Given the description of an element on the screen output the (x, y) to click on. 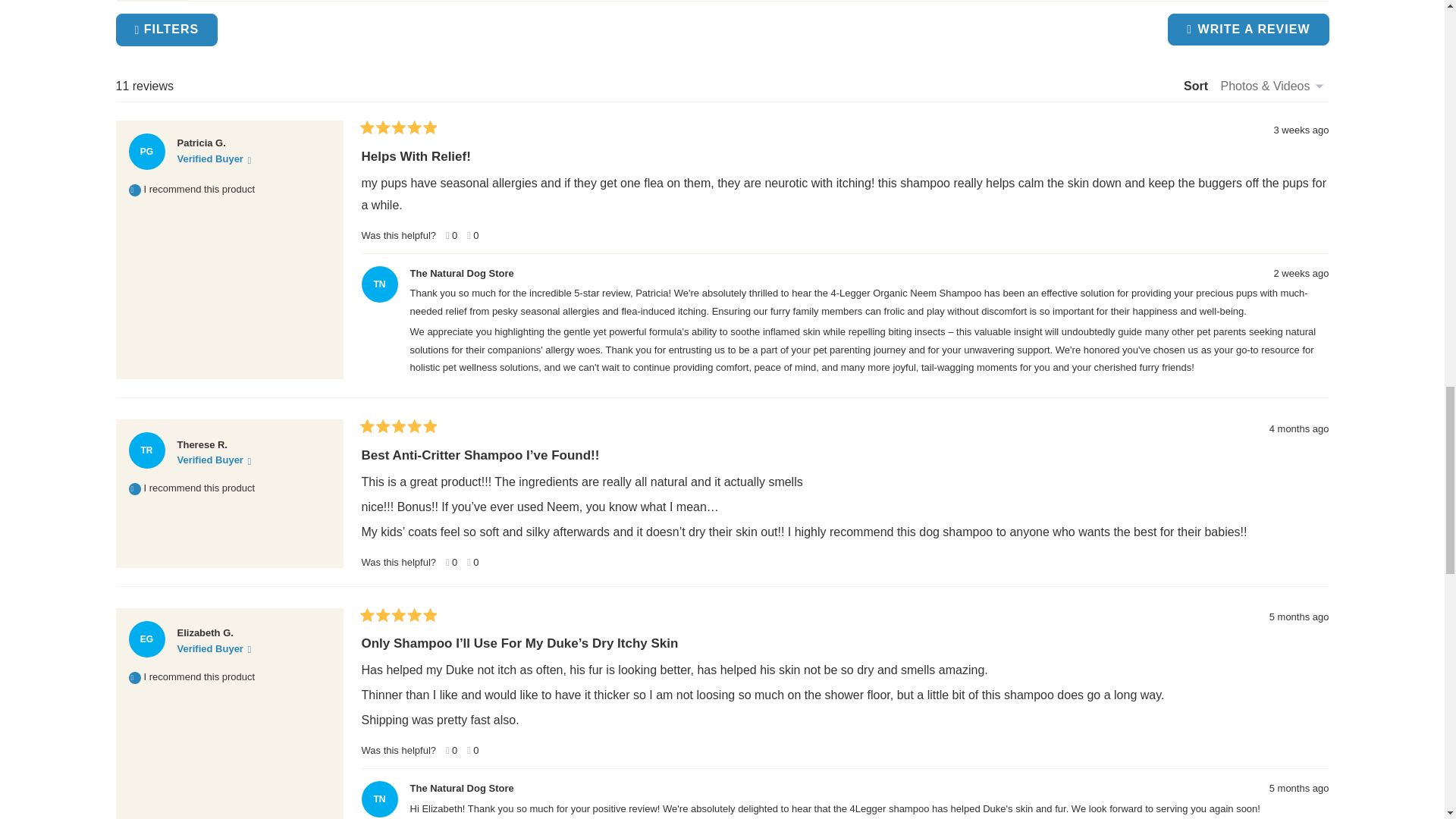
from United States (238, 439)
from United States (245, 626)
